Given the description of an element on the screen output the (x, y) to click on. 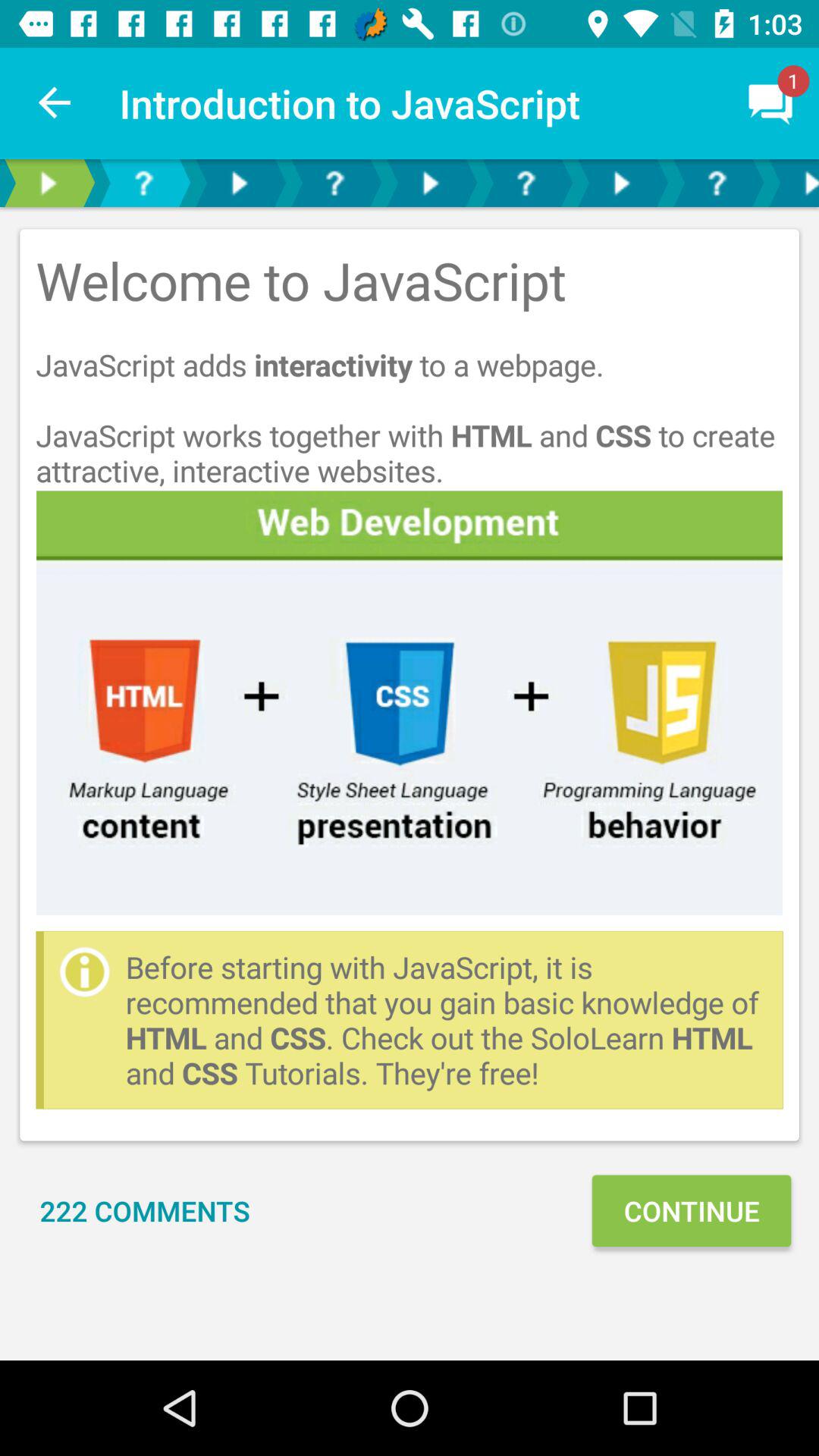
scroll to before starting with (446, 1019)
